Given the description of an element on the screen output the (x, y) to click on. 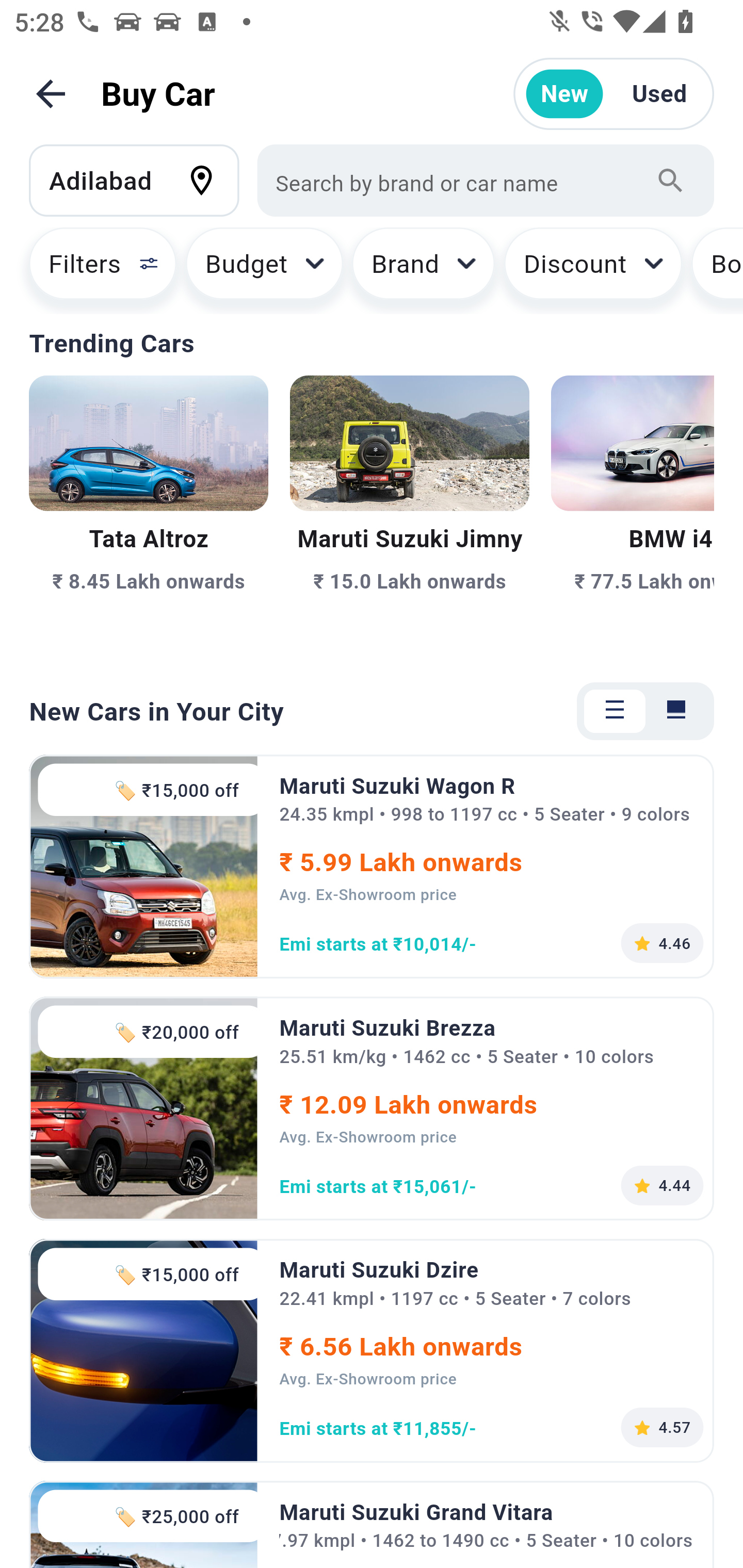
Back (50, 93)
New (564, 93)
Used (659, 93)
Adilabad (142, 180)
Filters (93, 270)
Budget (264, 270)
Brand (423, 270)
Discount (592, 270)
₹ 8.45 Lakh onwards Tata Altroz (148, 515)
₹ 15.0 Lakh onwards Maruti Suzuki Jimny (409, 515)
₹ 77.5 Lakh onwards BMW i4 (632, 515)
Tab 1 of 2 (614, 710)
Tab 2 of 2 (675, 710)
